Given the description of an element on the screen output the (x, y) to click on. 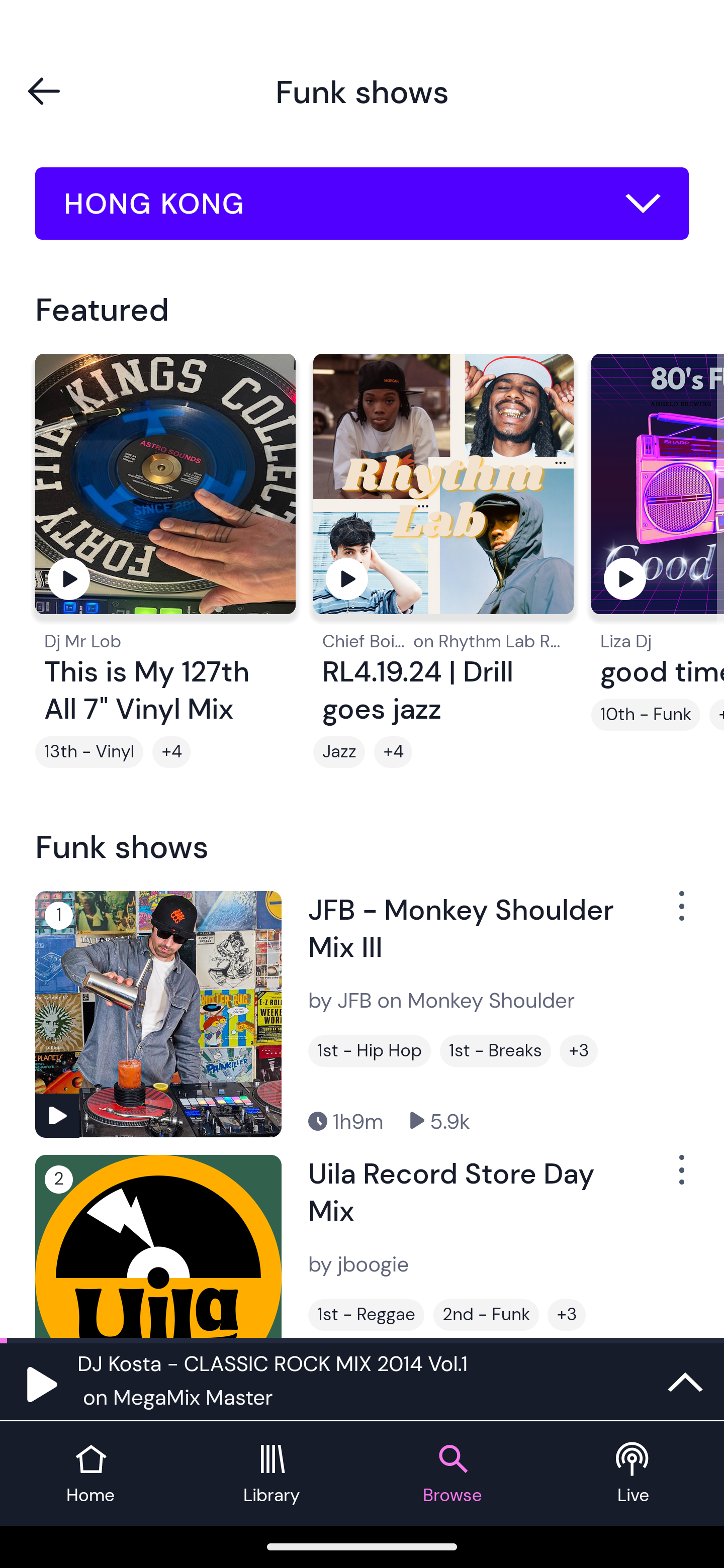
HONG KONG (361, 203)
10th - Funk (645, 714)
13th - Vinyl (89, 752)
Jazz (338, 752)
Show Options Menu Button (679, 913)
1st - Hip Hop (369, 1050)
1st - Breaks (495, 1050)
Show Options Menu Button (679, 1178)
1st - Reggae (366, 1315)
2nd - Funk (485, 1315)
Home tab Home (90, 1473)
Library tab Library (271, 1473)
Browse tab Browse (452, 1473)
Live tab Live (633, 1473)
